Given the description of an element on the screen output the (x, y) to click on. 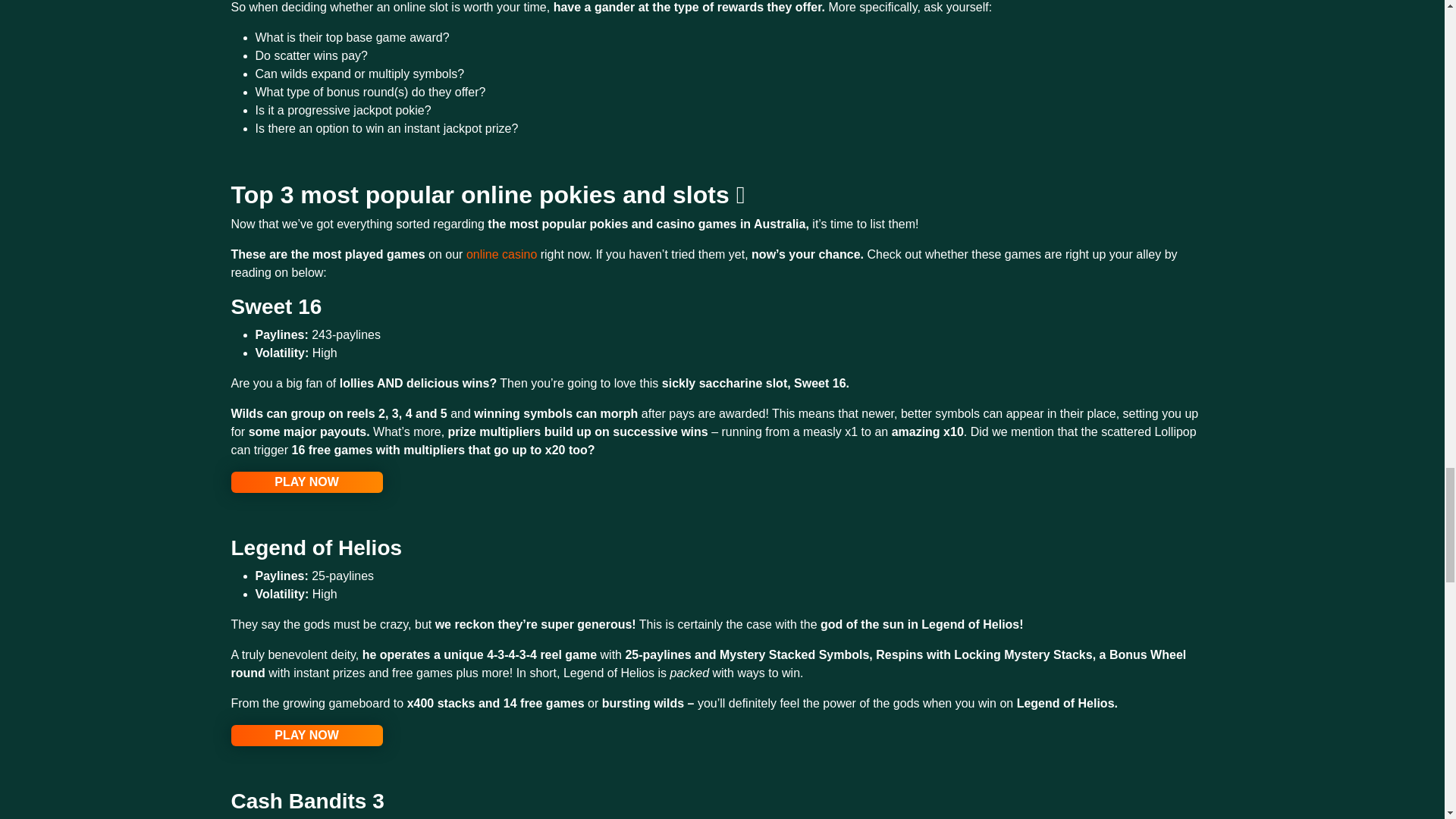
playcroco online casino pokies and slots (305, 482)
playcroco online casino pokies and slots (305, 735)
online casino (501, 254)
PLAY NOW (305, 482)
PLAY NOW (305, 735)
online casino (501, 254)
